Given the description of an element on the screen output the (x, y) to click on. 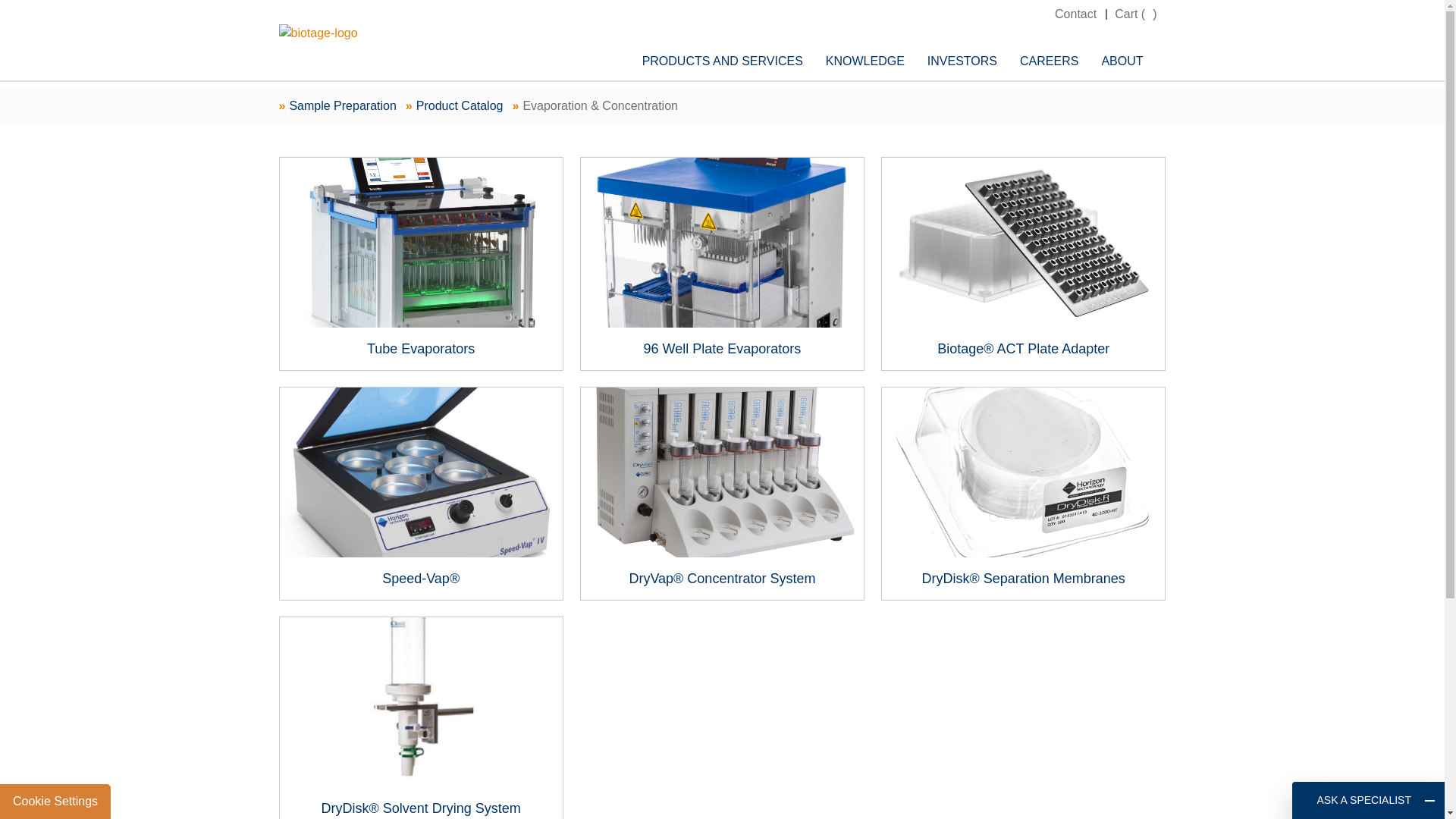
Contact (1075, 13)
PRODUCTS AND SERVICES (733, 61)
